Given the description of an element on the screen output the (x, y) to click on. 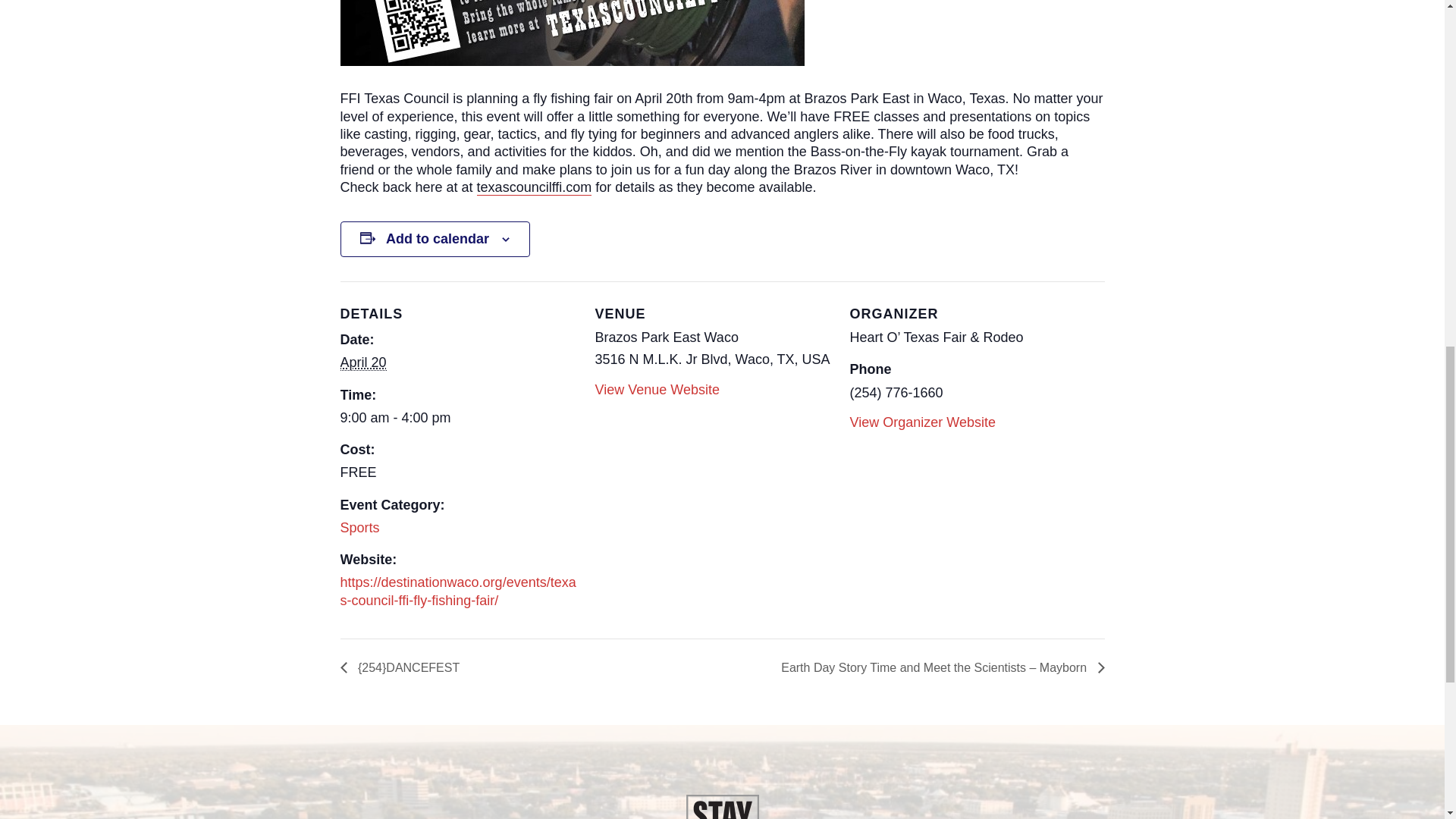
View Venue Website (656, 389)
Add to calendar (437, 238)
2024-04-20 (457, 417)
Sports (358, 527)
texascouncilffi.com (534, 187)
View Organizer Website (921, 421)
2024-04-20 (362, 362)
